Given the description of an element on the screen output the (x, y) to click on. 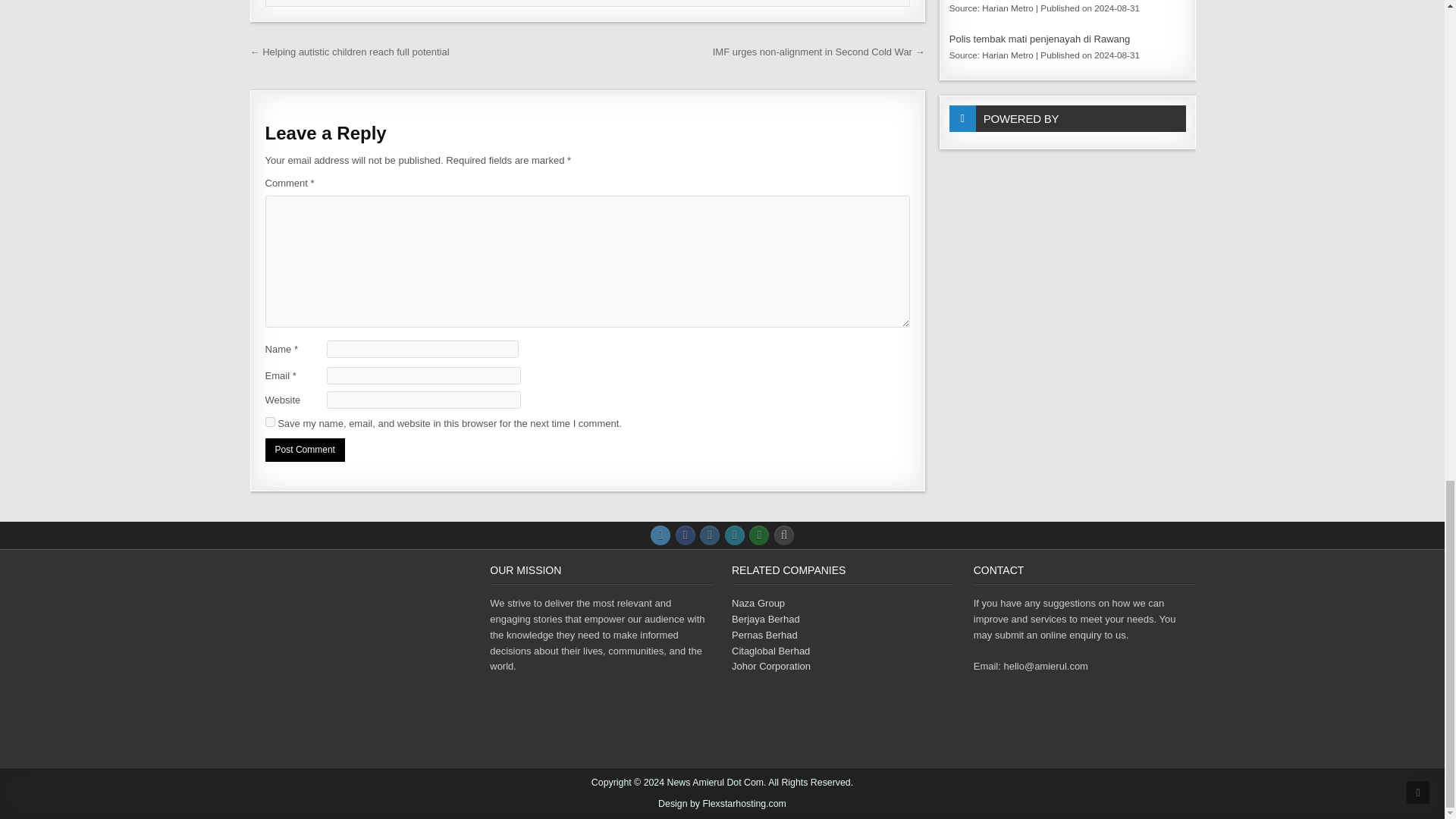
Post Comment (304, 449)
Post Comment (304, 449)
yes (269, 421)
